Given the description of an element on the screen output the (x, y) to click on. 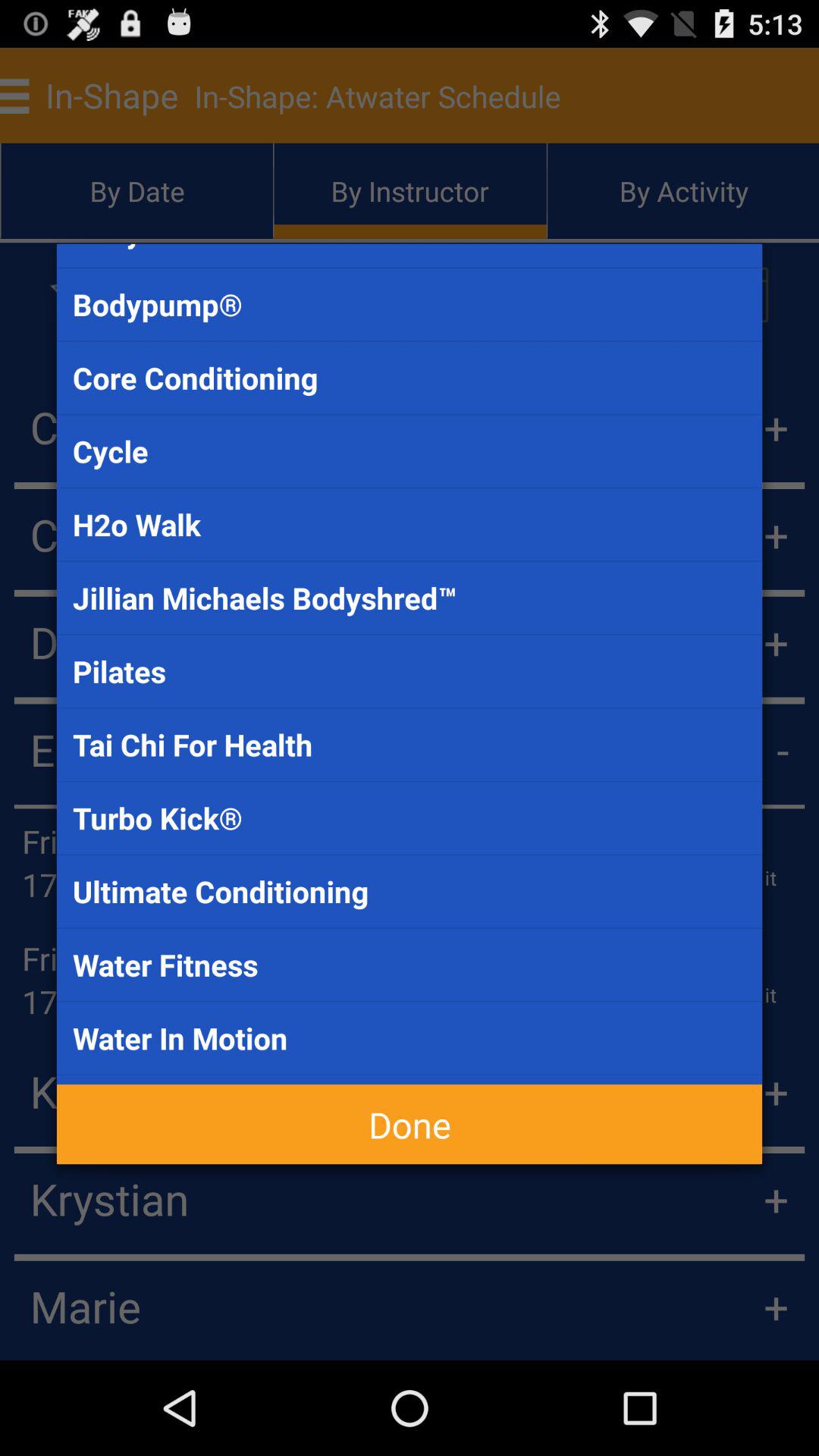
click app above the h2o walk icon (409, 451)
